Given the description of an element on the screen output the (x, y) to click on. 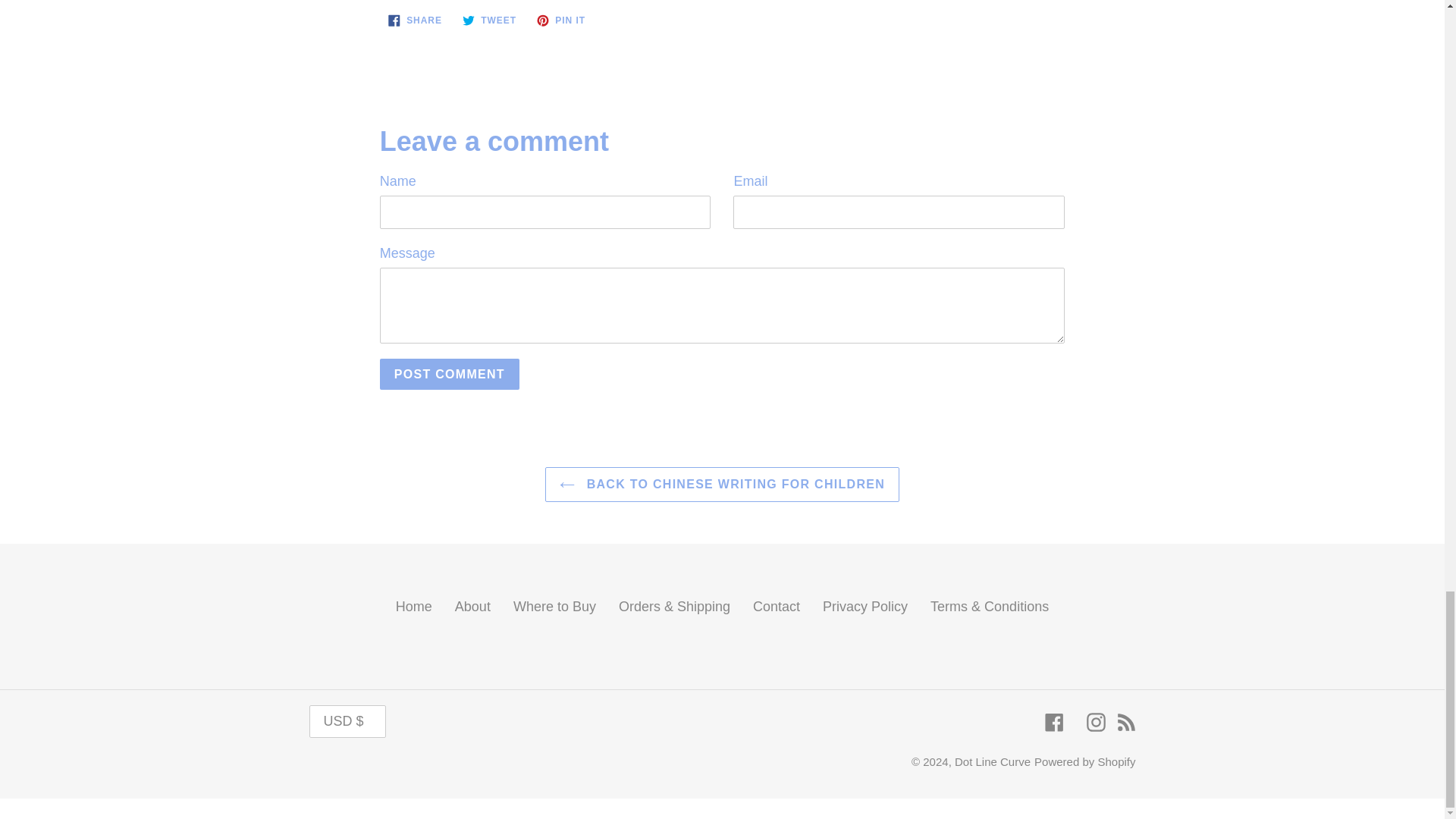
About (472, 606)
Post comment (449, 373)
Contact (561, 20)
BACK TO CHINESE WRITING FOR CHILDREN (489, 20)
Where to Buy (775, 606)
Home (721, 484)
Post comment (554, 606)
